Given the description of an element on the screen output the (x, y) to click on. 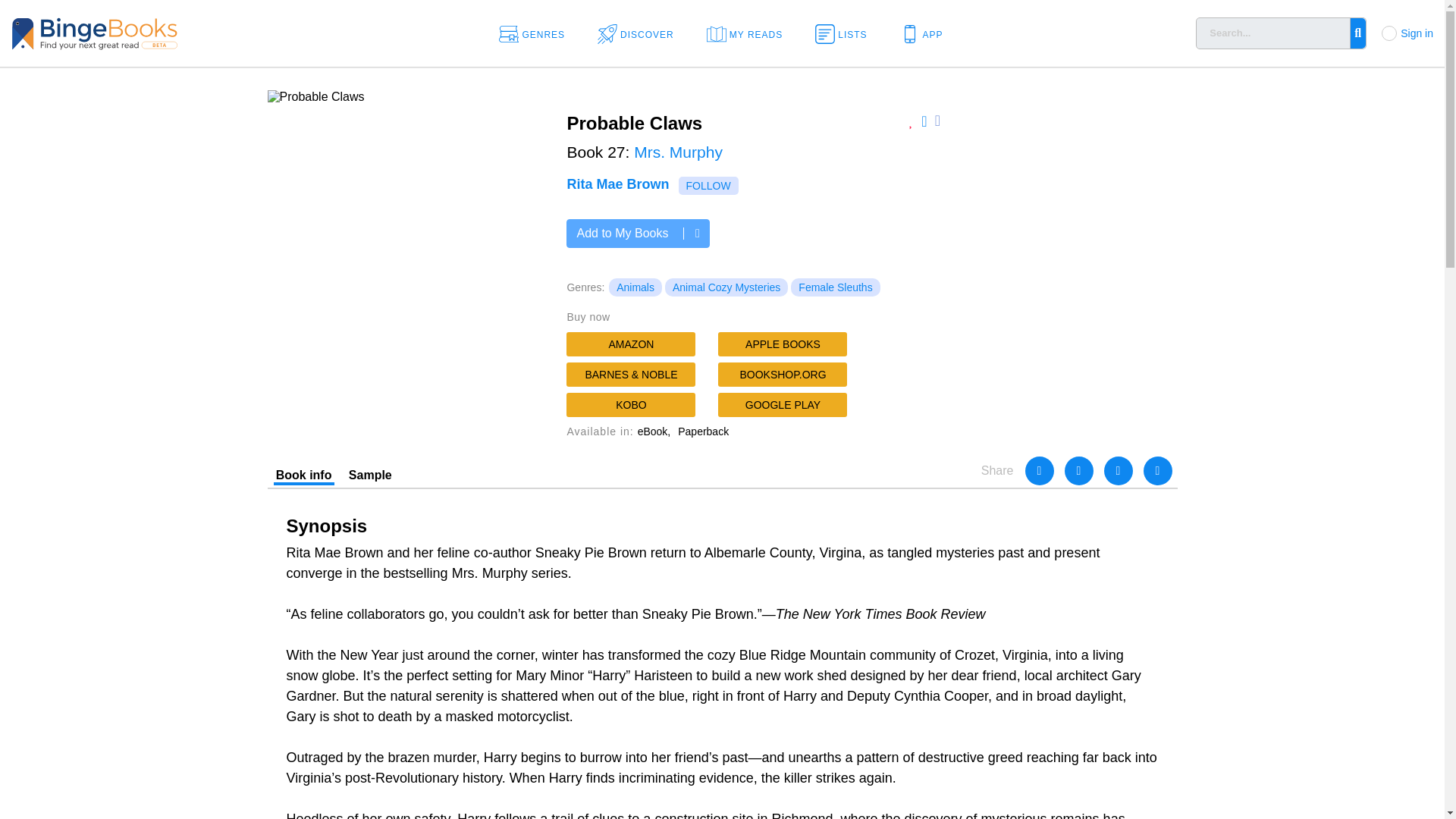
GENRES (537, 33)
MY READS (749, 33)
AMAZON (630, 344)
LISTS (845, 33)
Find your next great read (144, 32)
Animal Cozy Mysteries (726, 287)
Rita Mae Brown (617, 183)
Animals (635, 287)
Sign in (1416, 33)
Female Sleuths (834, 287)
